Given the description of an element on the screen output the (x, y) to click on. 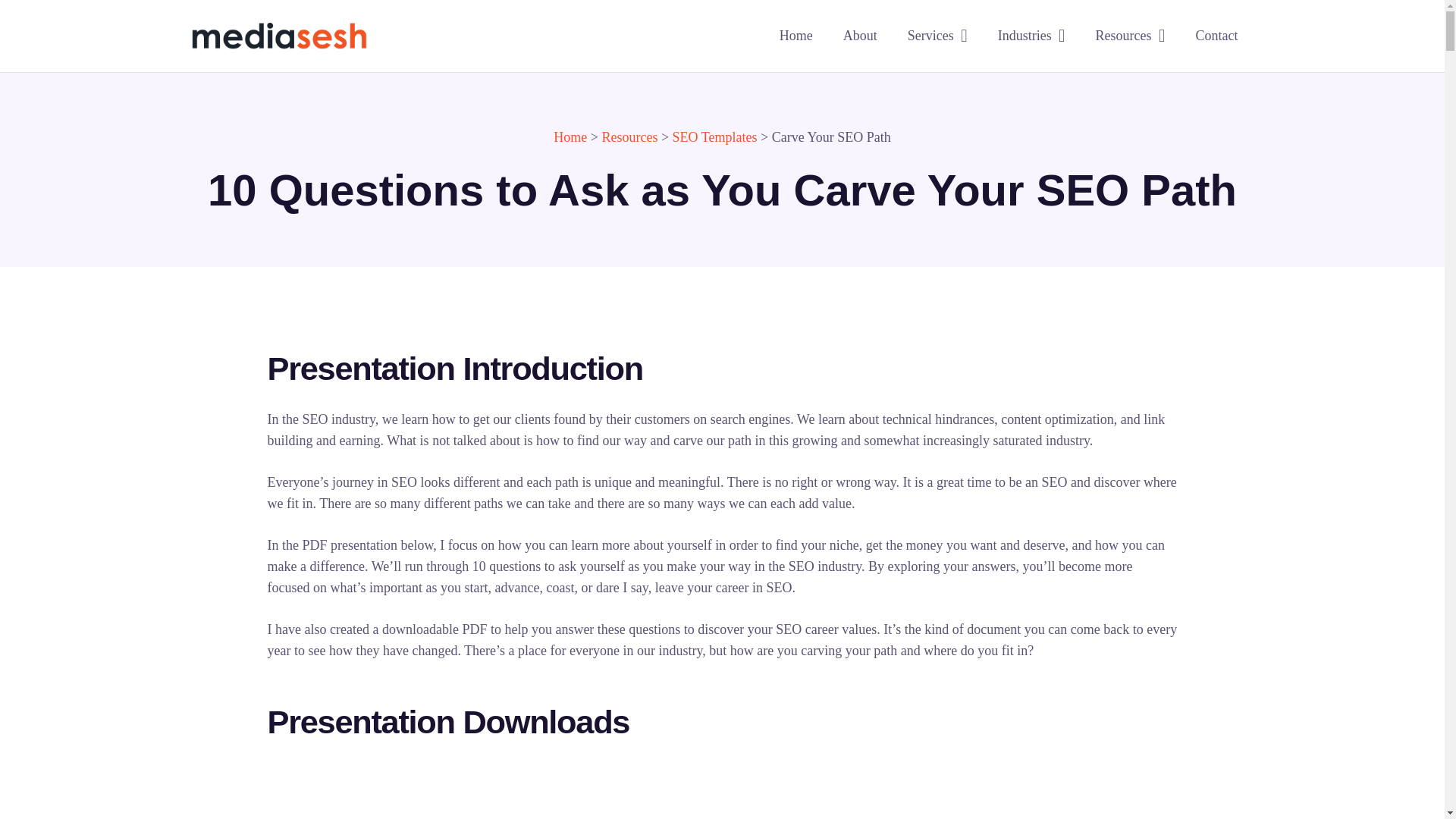
SEO Templates (714, 136)
Resources (629, 136)
Industries (1031, 36)
Contact (1215, 36)
Services (937, 36)
About (860, 36)
Resources (1130, 36)
Home (569, 136)
